Given the description of an element on the screen output the (x, y) to click on. 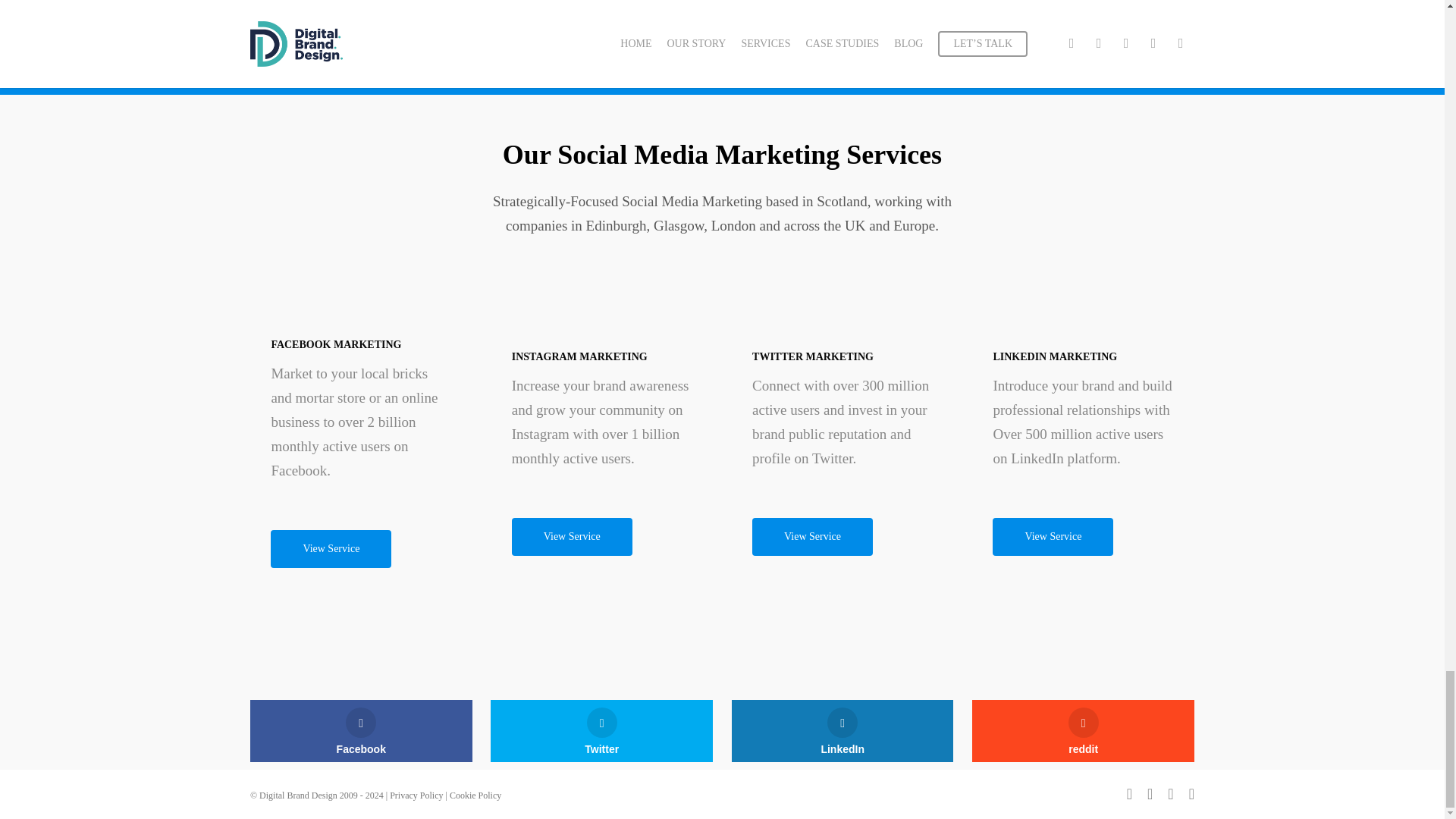
Corporate Branding Design (600, 421)
Startup Branding Design (354, 421)
Corporate Branding Design (1082, 421)
Corporate Branding Design (840, 421)
